Given the description of an element on the screen output the (x, y) to click on. 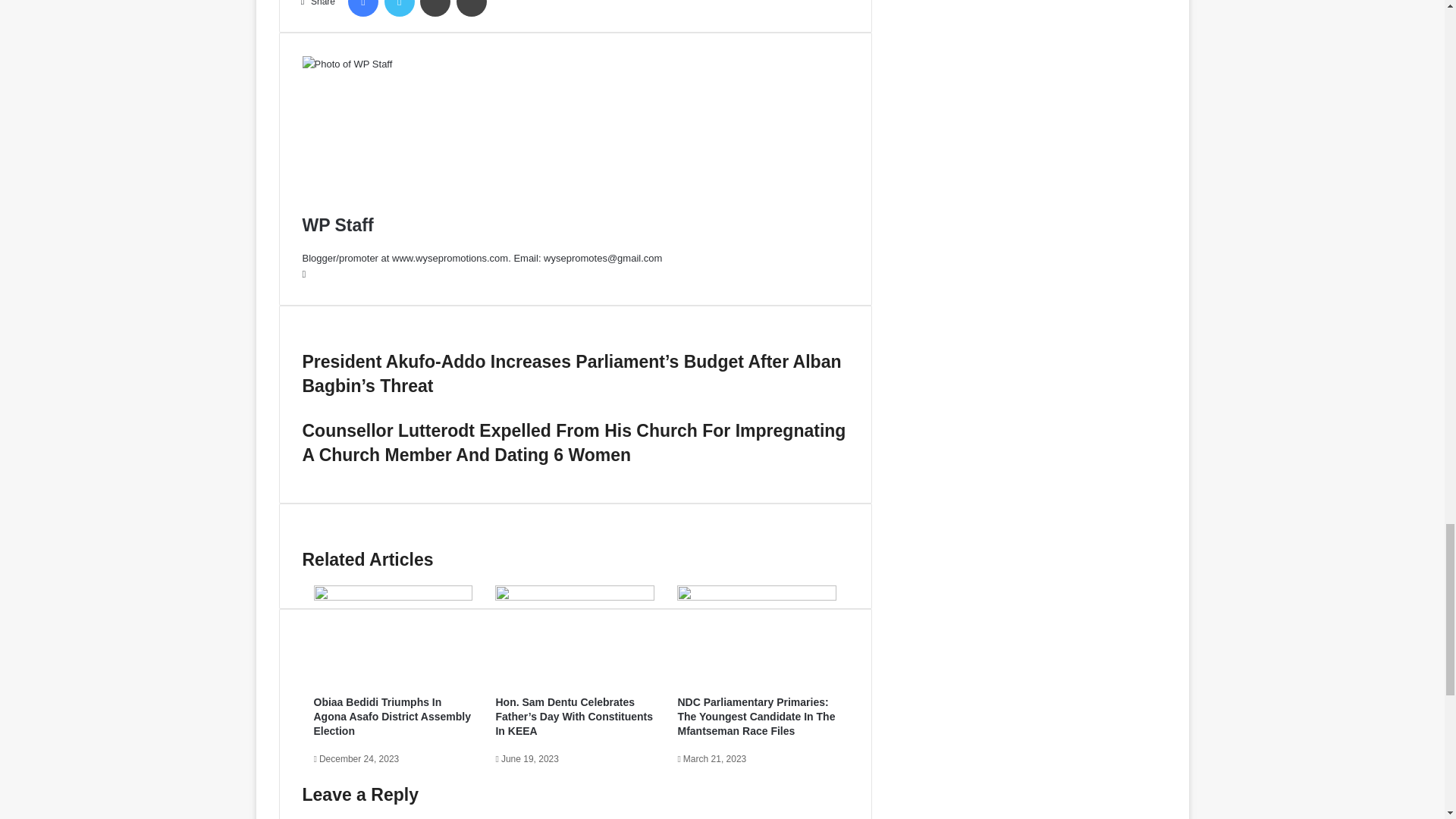
Facebook (362, 8)
Facebook (362, 8)
Pinterest (471, 8)
LinkedIn (434, 8)
Twitter (399, 8)
Twitter (399, 8)
